Given the description of an element on the screen output the (x, y) to click on. 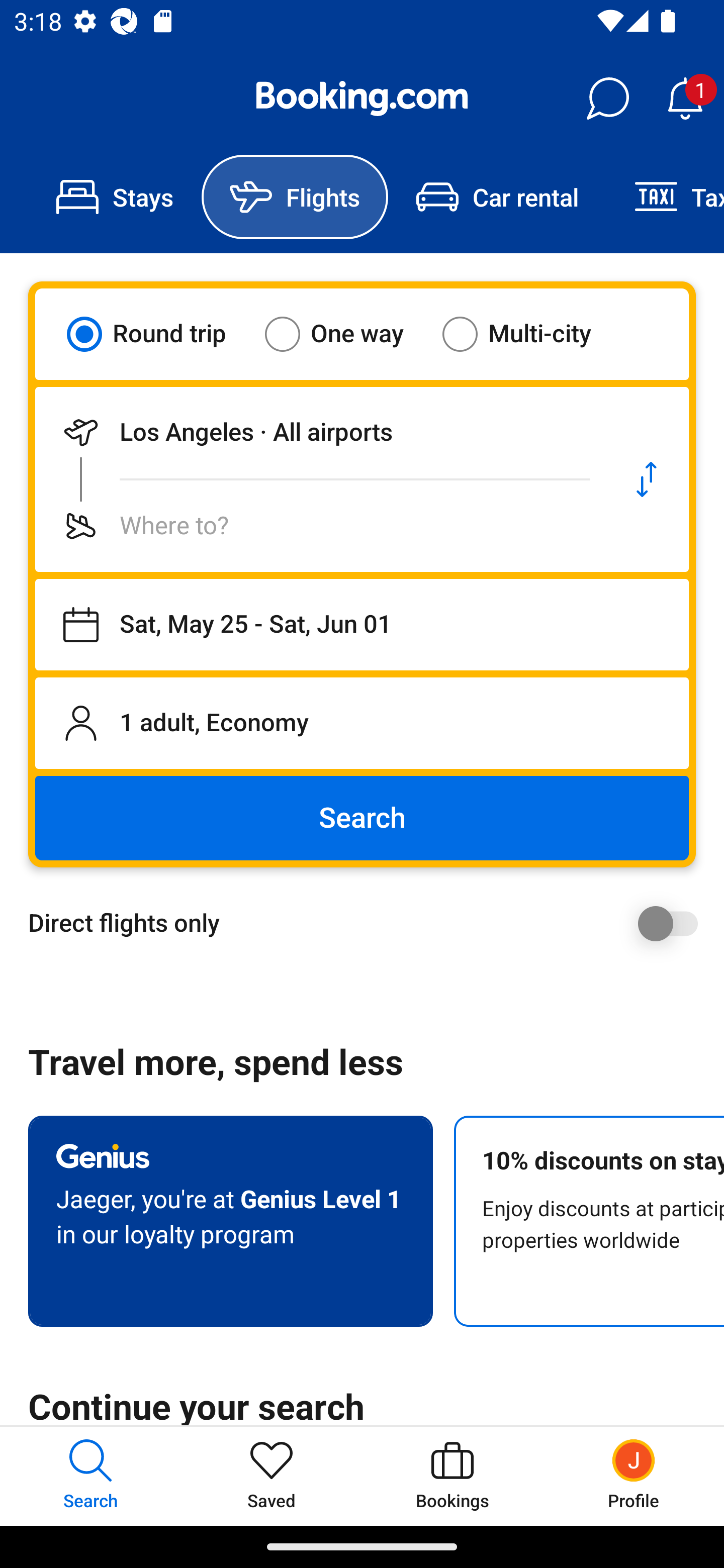
Messages (607, 98)
Notifications (685, 98)
Stays (114, 197)
Flights (294, 197)
Car rental (497, 197)
Taxi (665, 197)
One way (346, 333)
Multi-city (528, 333)
Departing from Los Angeles · All airports (319, 432)
Swap departure location and destination (646, 479)
Flying to  (319, 525)
Departing on Sat, May 25, returning on Sat, Jun 01 (361, 624)
1 adult, Economy (361, 722)
Search (361, 818)
Direct flights only (369, 923)
Saved (271, 1475)
Bookings (452, 1475)
Profile (633, 1475)
